Given the description of an element on the screen output the (x, y) to click on. 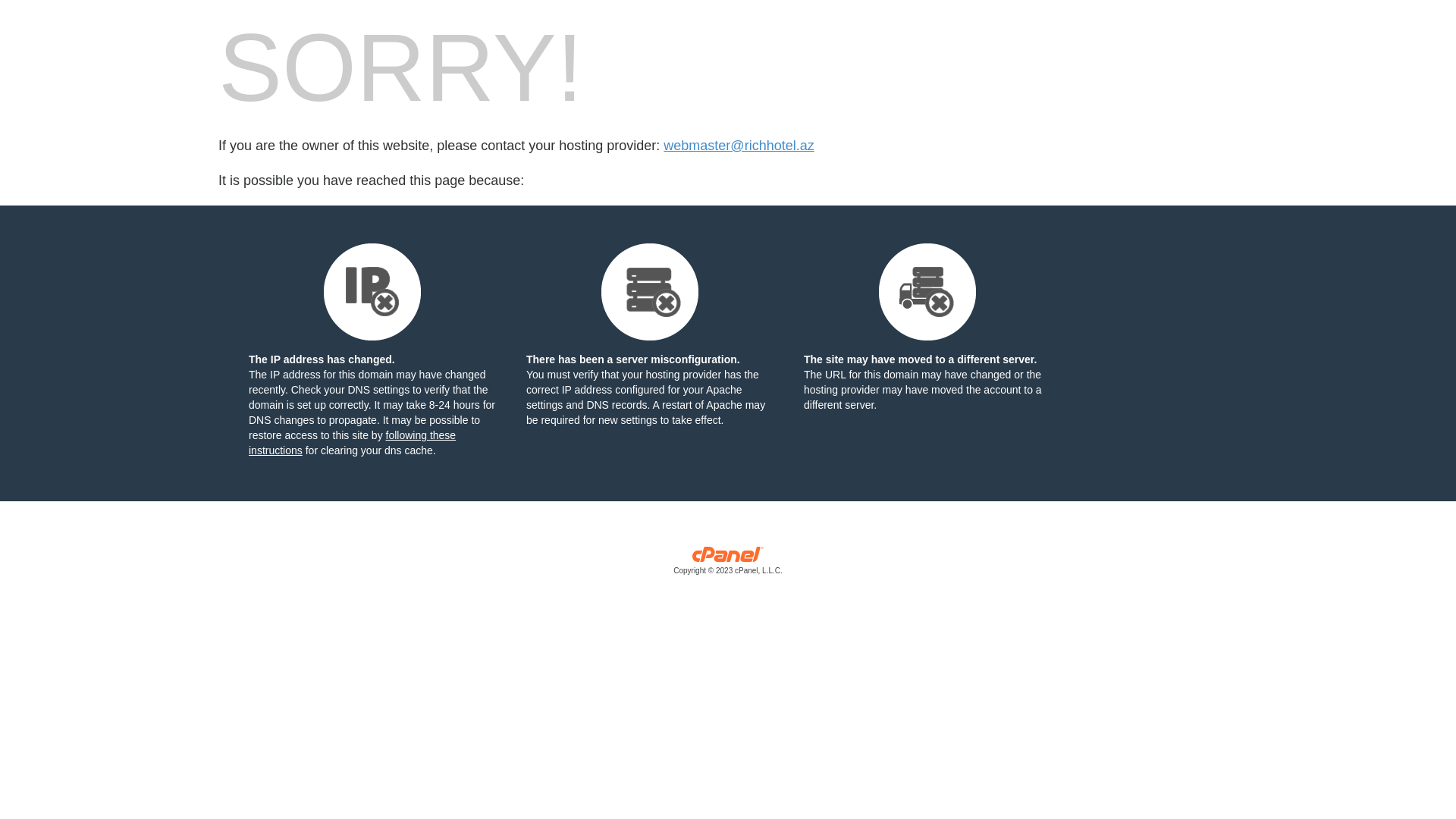
webmaster@richhotel.az Element type: text (738, 145)
following these instructions Element type: text (351, 442)
